Given the description of an element on the screen output the (x, y) to click on. 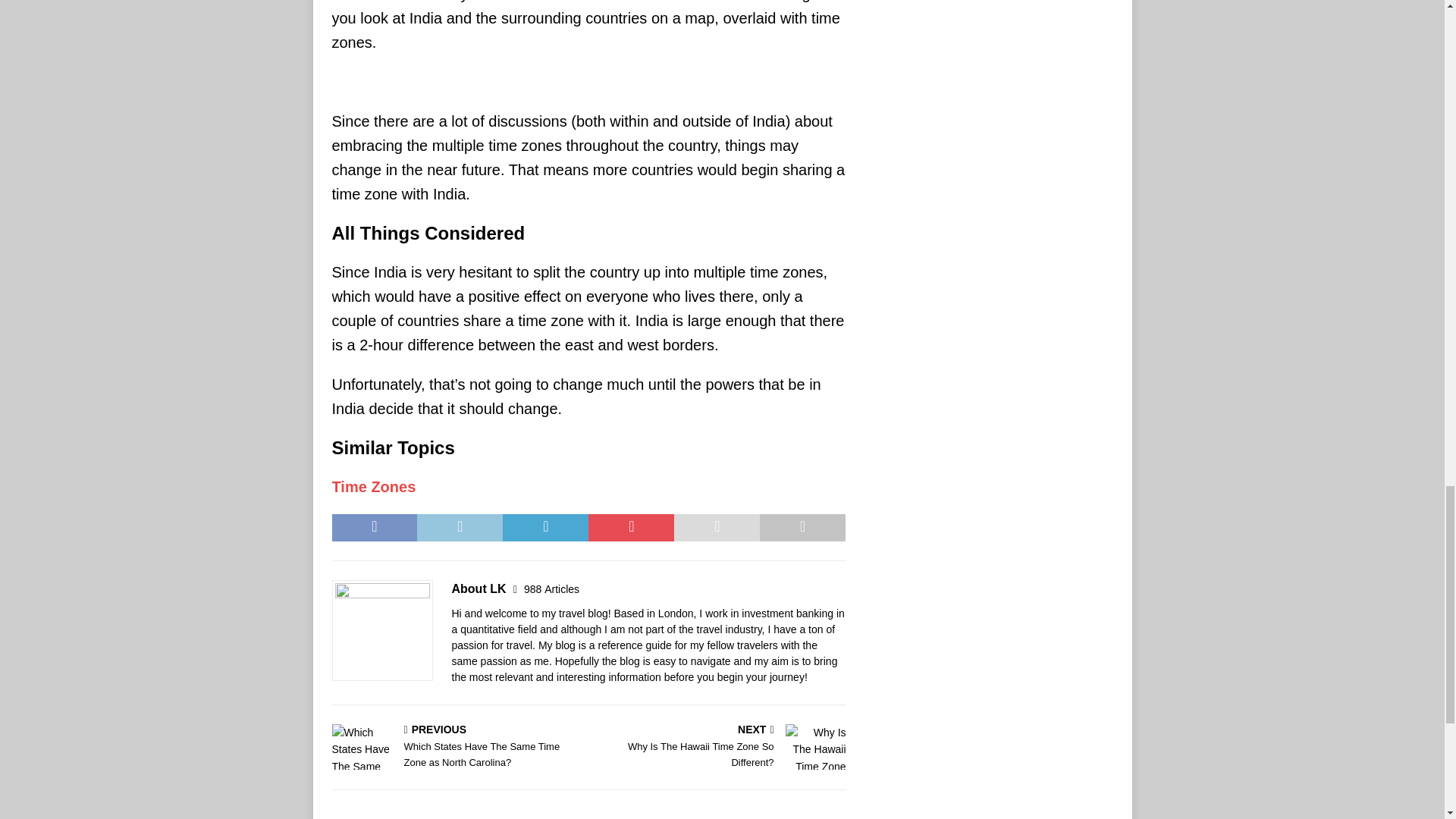
Time Zones (373, 486)
988 Articles (551, 589)
More articles written by LK' (551, 589)
